Given the description of an element on the screen output the (x, y) to click on. 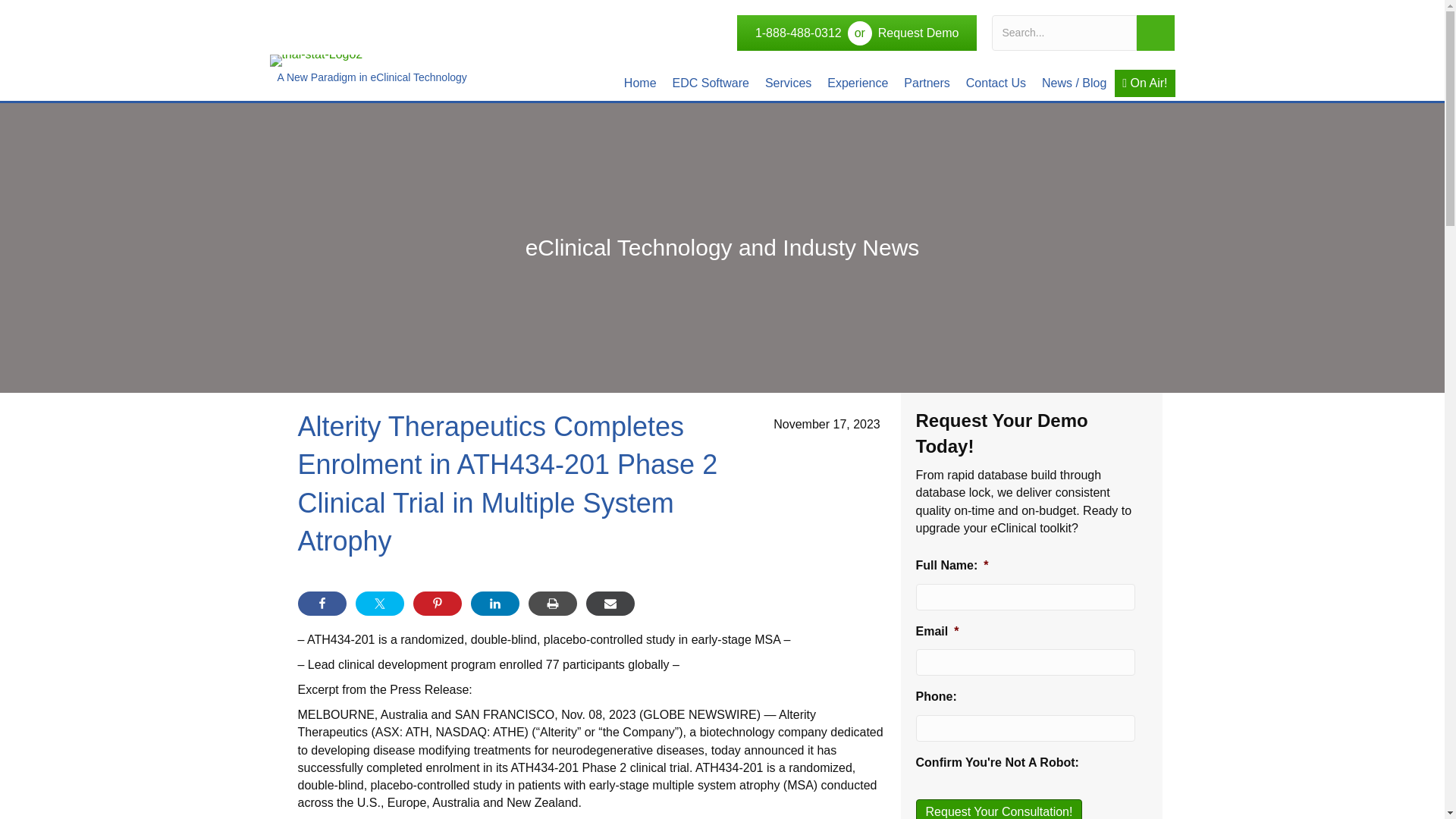
EDC Software (711, 83)
1-888-488-0312 (798, 32)
Share via Email (609, 603)
Share on Pinterest (436, 603)
Share on Facebook (321, 603)
Request Your Consultation! (999, 809)
Experience (857, 83)
Request Demo (918, 32)
search (1155, 32)
On Air! (1144, 83)
